Given the description of an element on the screen output the (x, y) to click on. 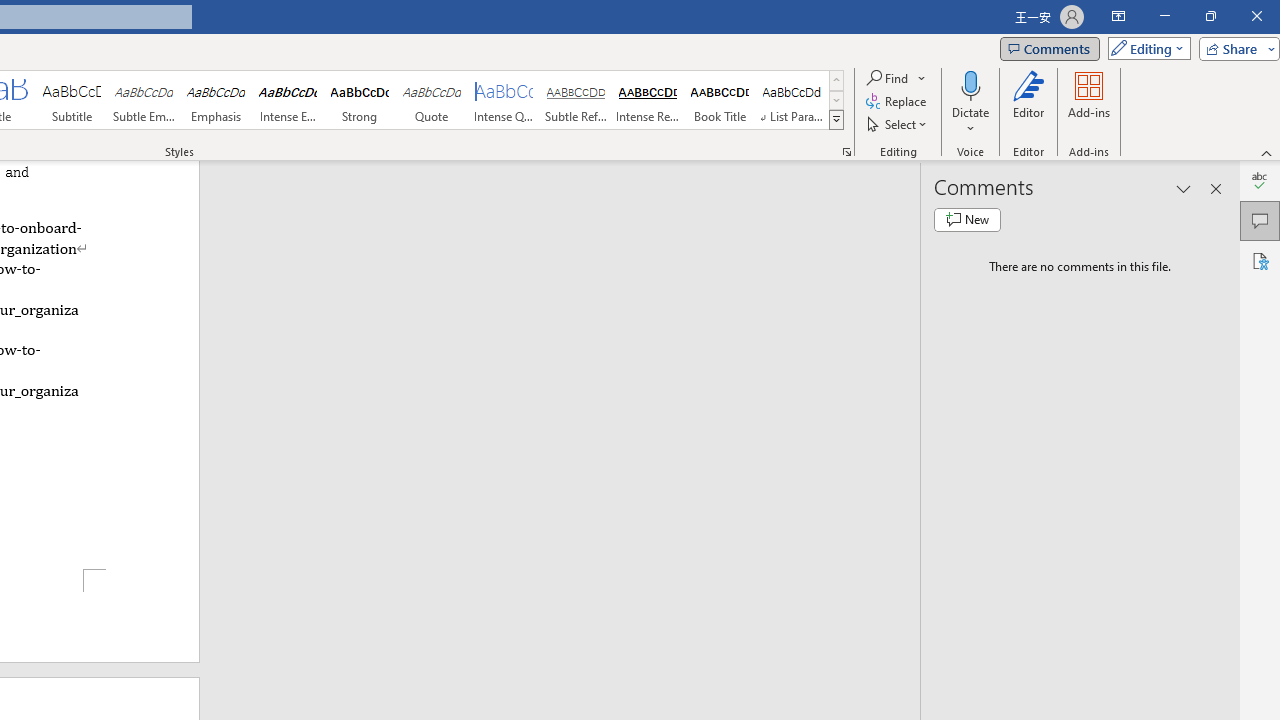
Minimize (1164, 16)
Emphasis (216, 100)
Ribbon Display Options (1118, 16)
Quote (431, 100)
Close (1256, 16)
Restore Down (1210, 16)
Find (888, 78)
Row Down (836, 100)
Strong (359, 100)
